Given the description of an element on the screen output the (x, y) to click on. 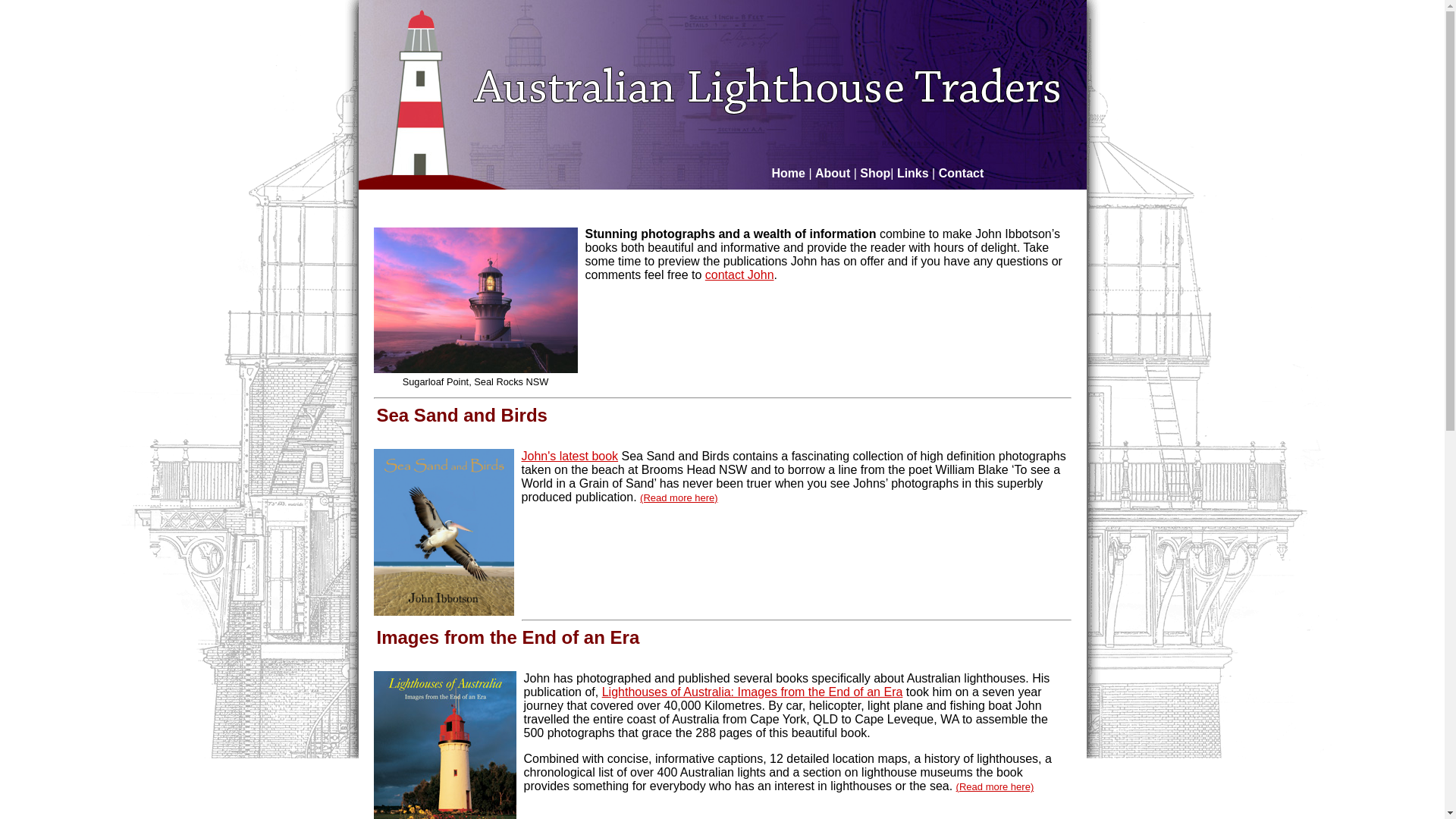
Contact Element type: text (961, 172)
John's latest book Element type: text (569, 455)
Lighthouses of Australia: Images from the End of an Era Element type: text (752, 691)
About Element type: text (834, 172)
contact John Element type: text (739, 274)
(Read more here) Element type: text (679, 497)
Home Element type: text (788, 172)
Shop Element type: text (874, 172)
(Read more here) Element type: text (995, 786)
Links Element type: text (914, 172)
